Given the description of an element on the screen output the (x, y) to click on. 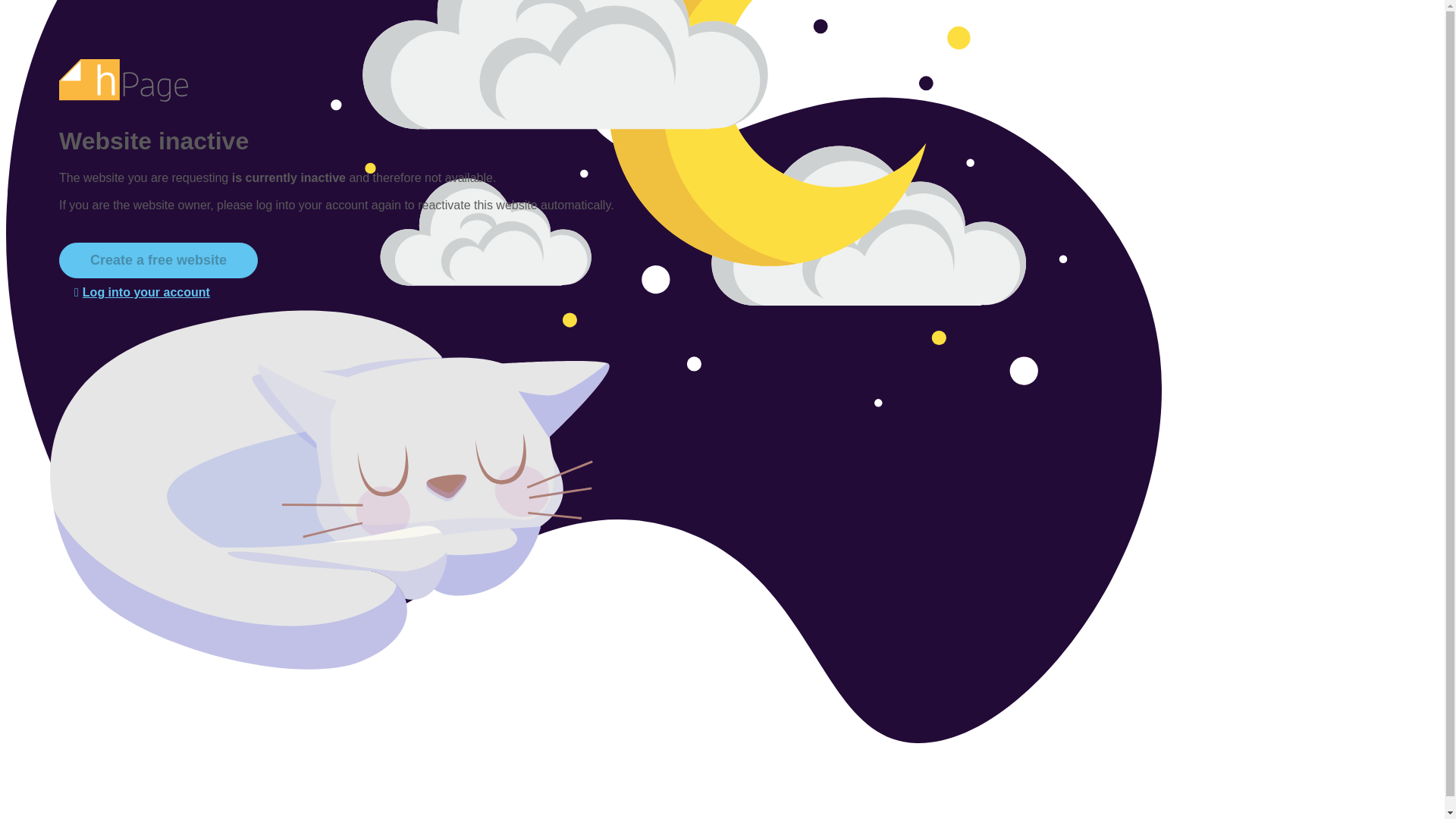
Create a free website (158, 259)
Create a free website (158, 260)
